Given the description of an element on the screen output the (x, y) to click on. 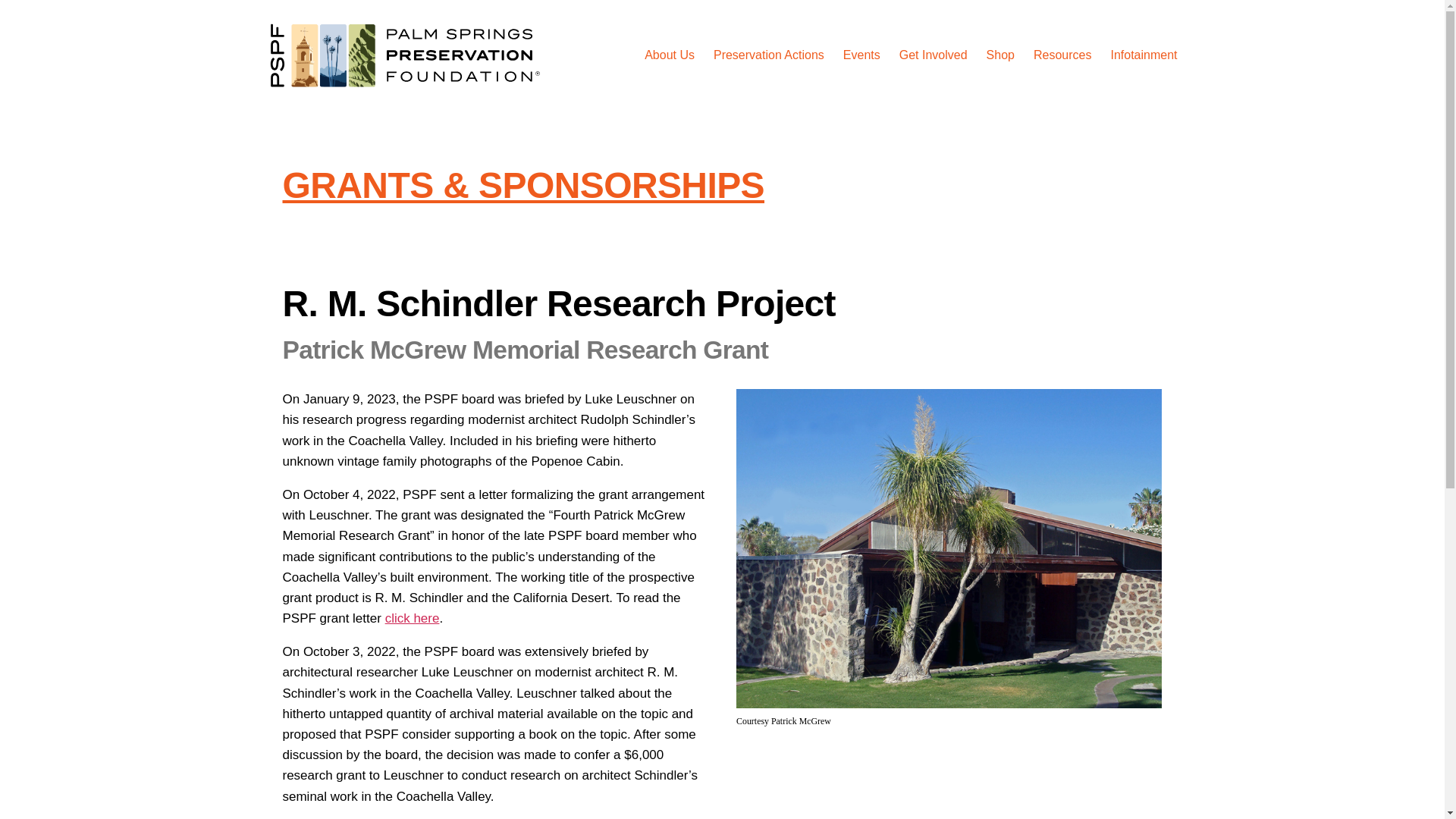
Preservation Actions (768, 54)
Infotainment (1142, 54)
click here (412, 617)
About Us (669, 54)
Shop (1000, 54)
Get Involved (933, 54)
Events (861, 54)
Resources (1061, 54)
